Given the description of an element on the screen output the (x, y) to click on. 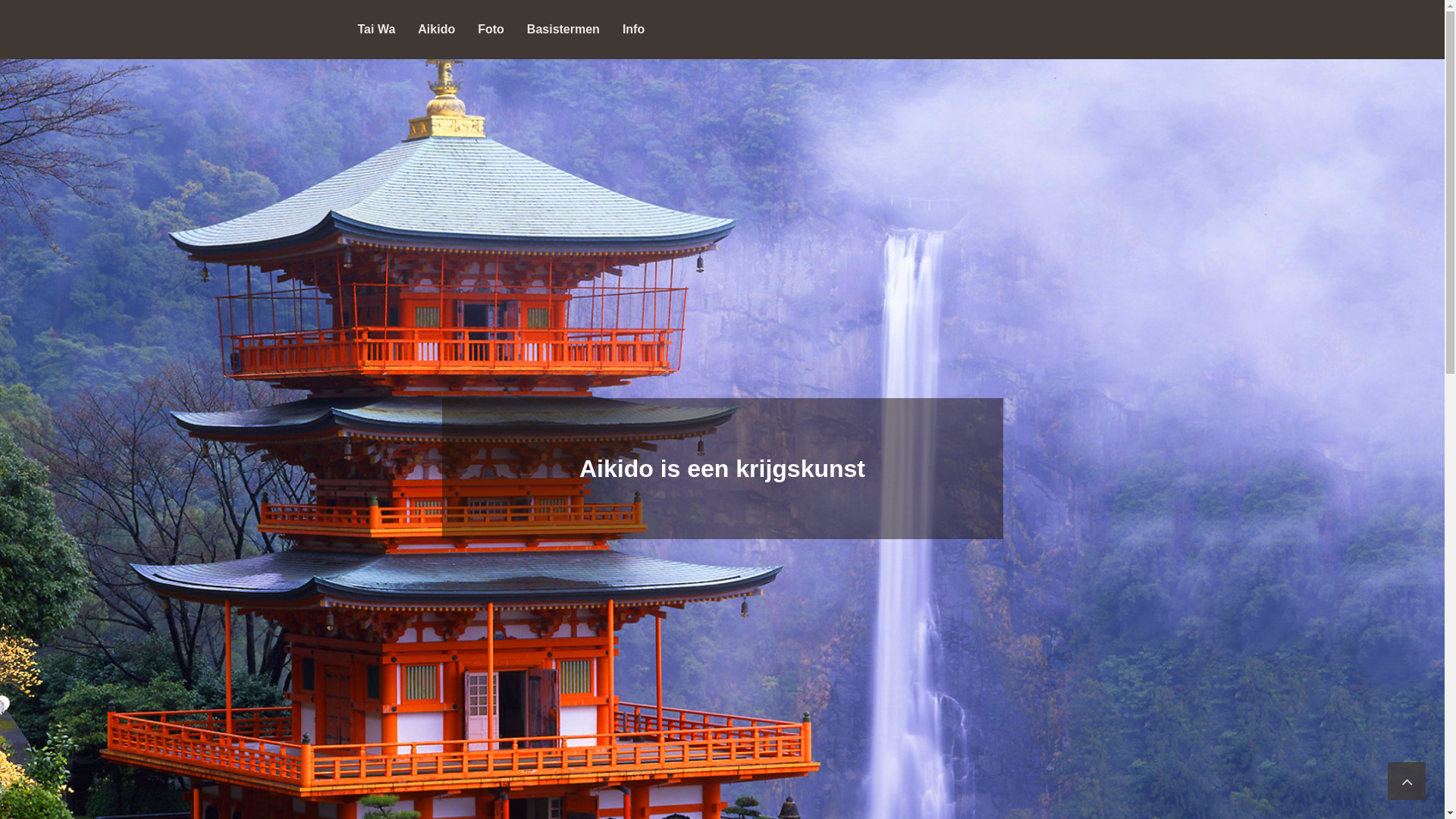
Info Element type: text (633, 29)
Aikido Element type: text (436, 29)
Foto Element type: text (490, 29)
Basistermen Element type: text (563, 29)
Tai Wa Element type: text (375, 29)
